Given the description of an element on the screen output the (x, y) to click on. 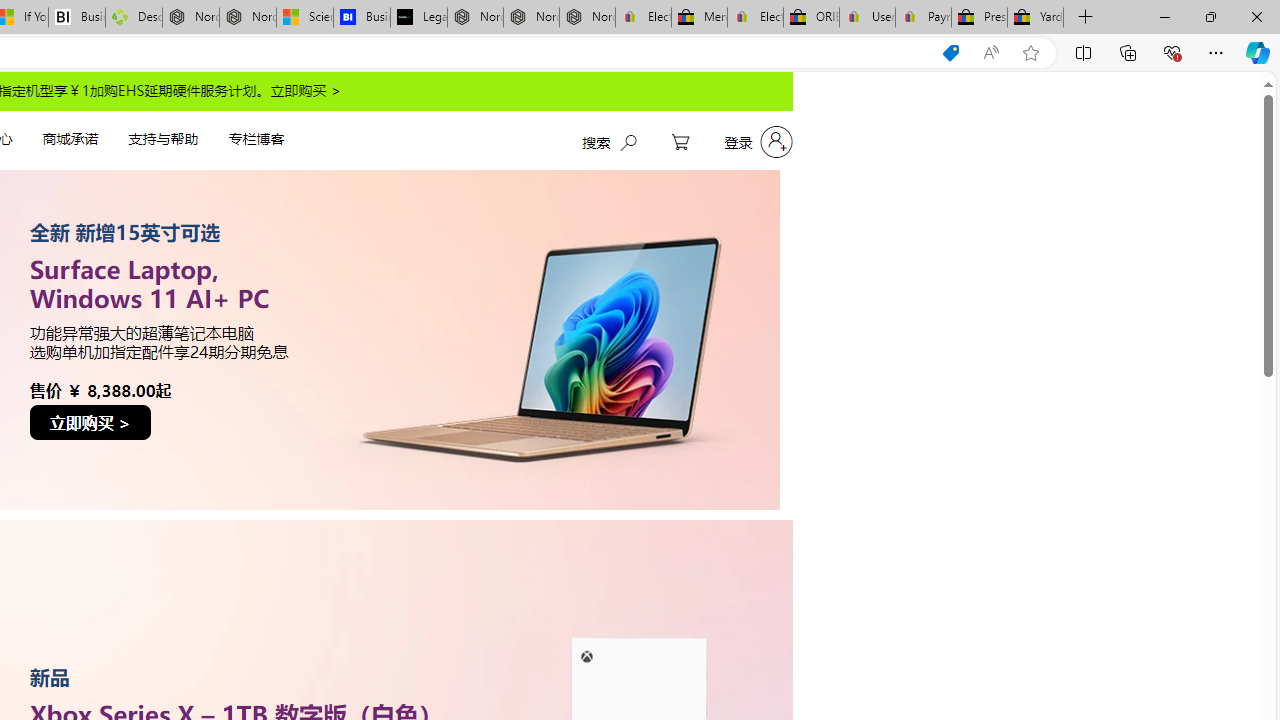
Payments Terms of Use | eBay.com (923, 17)
